Given the description of an element on the screen output the (x, y) to click on. 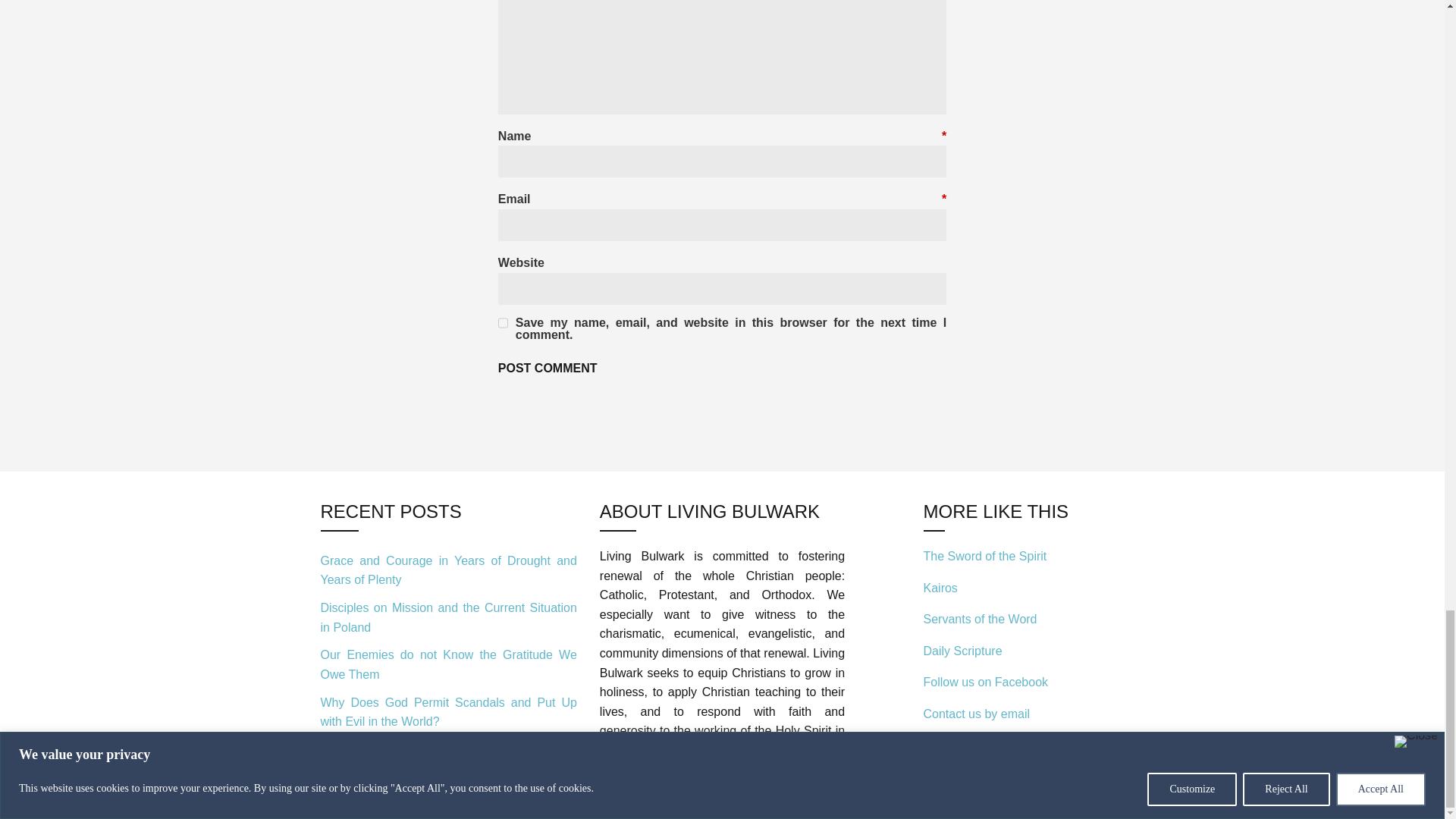
Servants of the Word (979, 618)
Grace and Courage in Years of Drought and Years of Plenty (448, 570)
Disciples on Mission and the Current Situation in Poland  (448, 616)
Post Comment (546, 368)
The Sword of the Spirit (984, 555)
Post Comment (546, 368)
Our Enemies do not Know the Gratitude We Owe Them  (448, 664)
Privacy Policy (637, 781)
Kairos (940, 587)
